Given the description of an element on the screen output the (x, y) to click on. 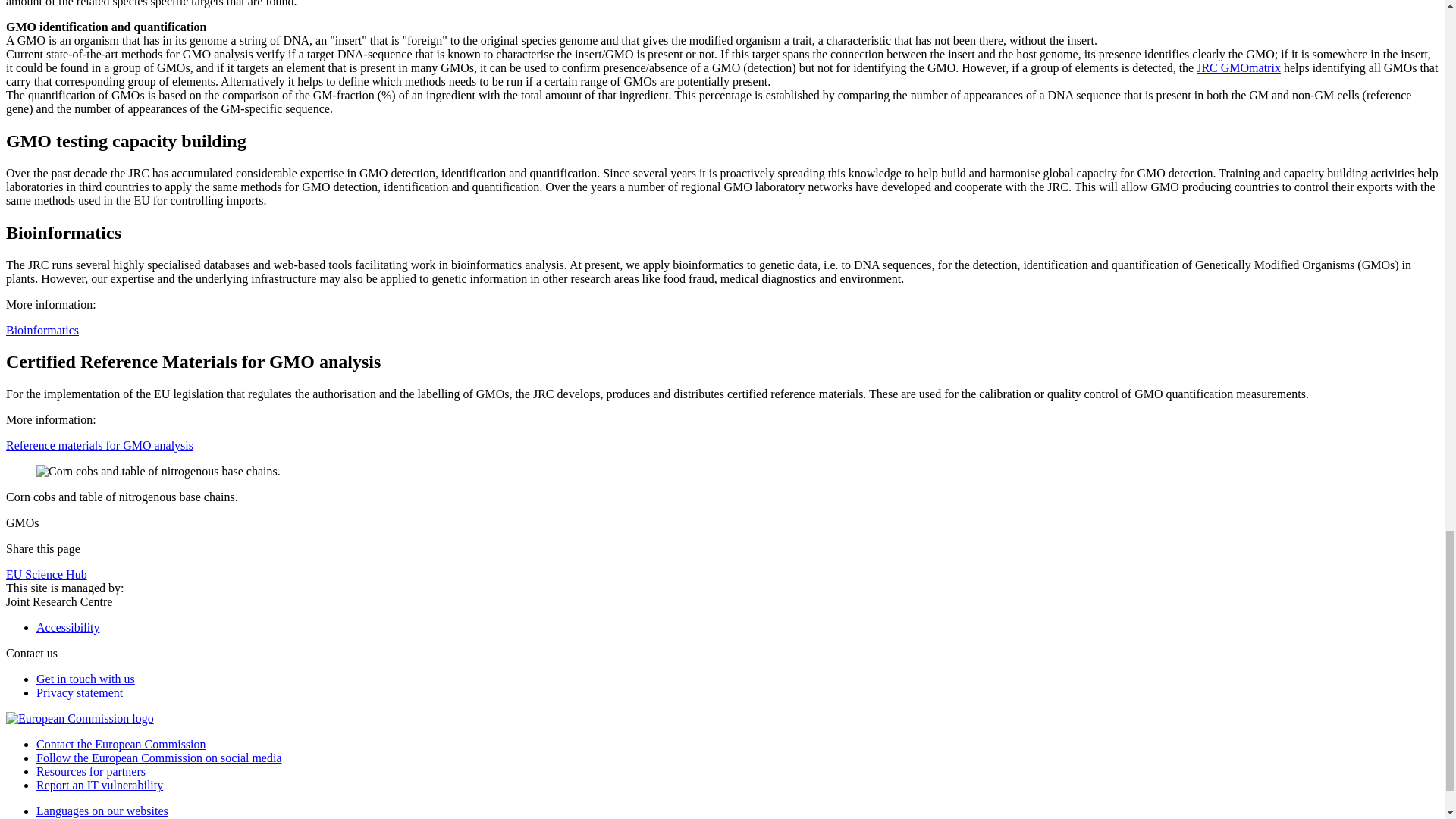
Accessibility (68, 626)
EU Science Hub (46, 574)
Contact the European Commission (121, 744)
JRC GMOmatrix (1238, 67)
Report an IT vulnerability (99, 784)
Resources for partners (90, 771)
European Commission (79, 717)
GMOs (158, 471)
Languages on our websites (102, 810)
Follow the European Commission on social media (159, 757)
